Given the description of an element on the screen output the (x, y) to click on. 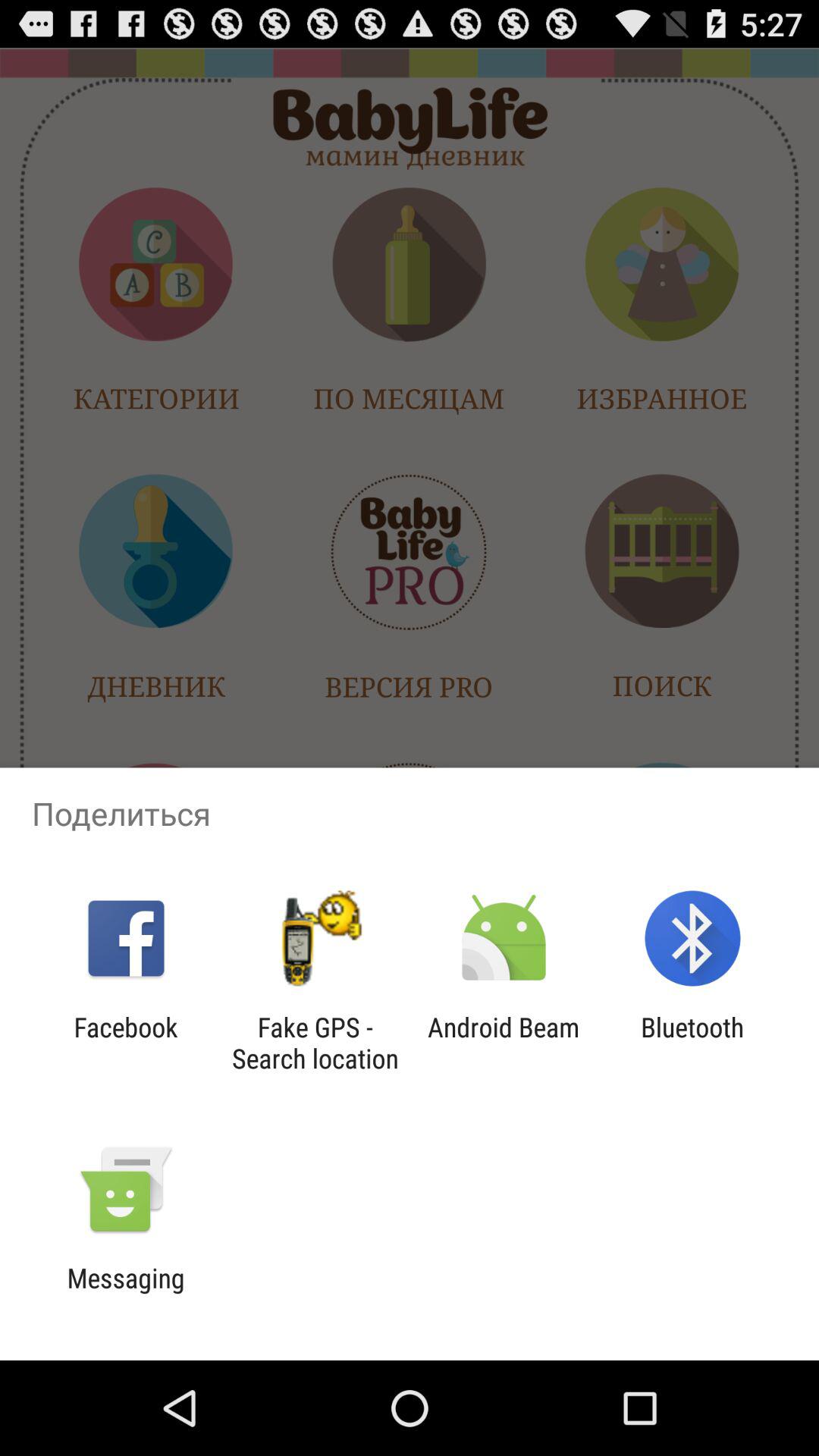
choose app next to fake gps search item (125, 1042)
